Given the description of an element on the screen output the (x, y) to click on. 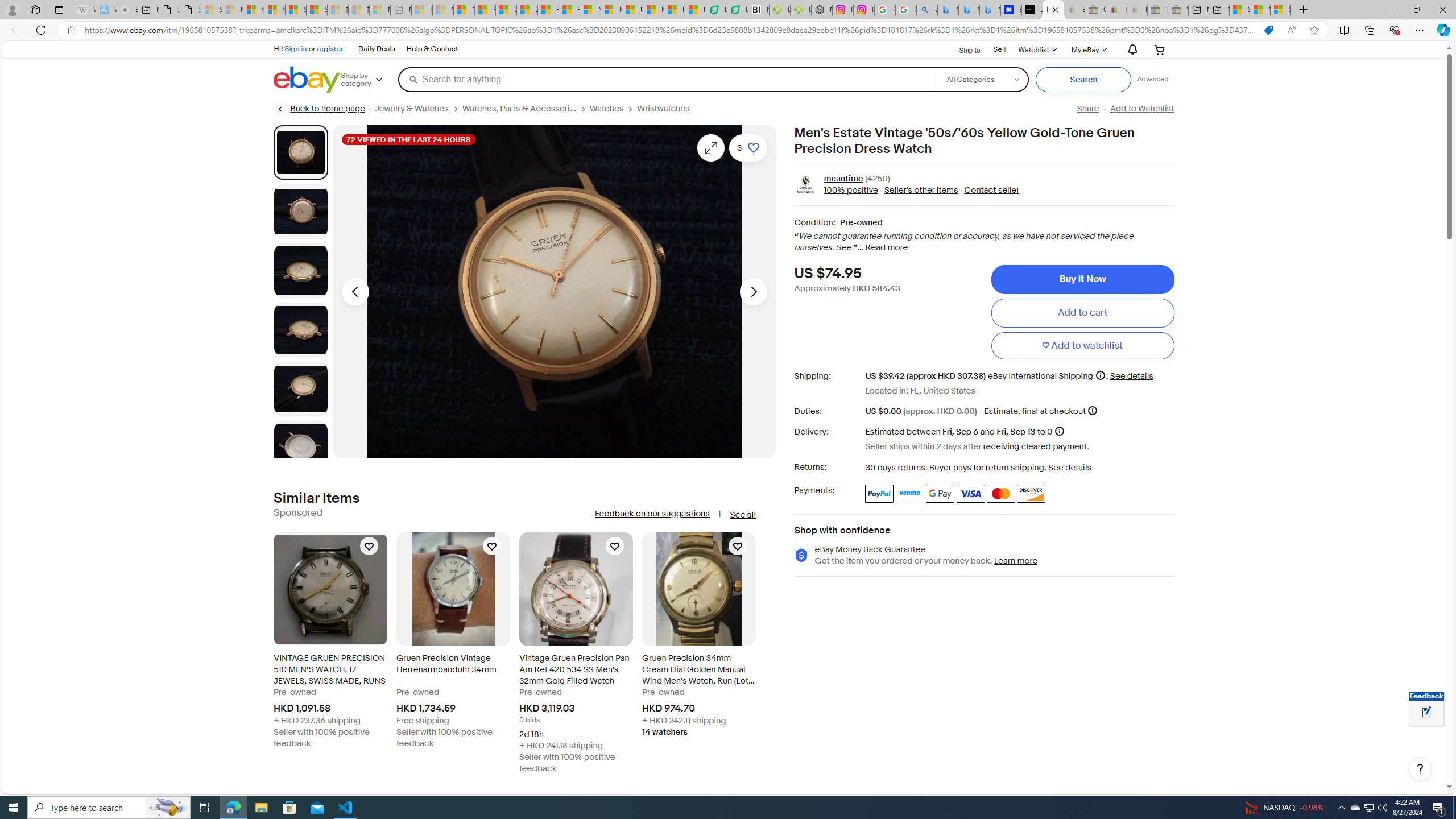
Payments Terms of Use | eBay.com - Sleeping (1136, 9)
alabama high school quarterback dies - Search (926, 9)
More information (1092, 410)
Help & Contact (432, 49)
(4250) (876, 179)
Watches (606, 108)
Wristwatches (663, 108)
Contact seller (991, 190)
See details - for more information about returns (1070, 467)
See all (742, 514)
Buy It Now (1082, 279)
Google Pay (940, 493)
Microsoft account | Account Checkup - Sleeping (379, 9)
